Given the description of an element on the screen output the (x, y) to click on. 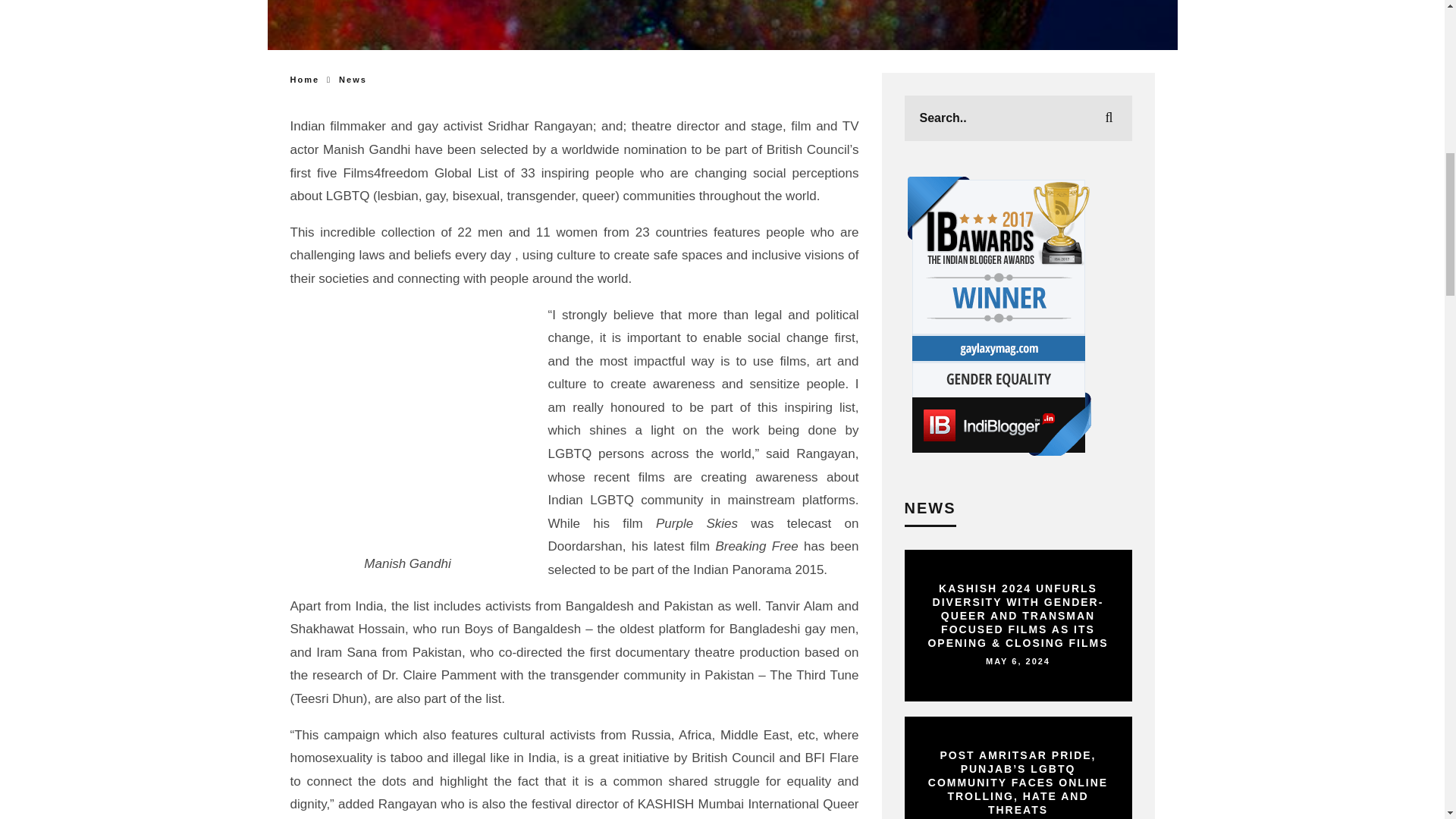
View all posts in News (352, 79)
